Given the description of an element on the screen output the (x, y) to click on. 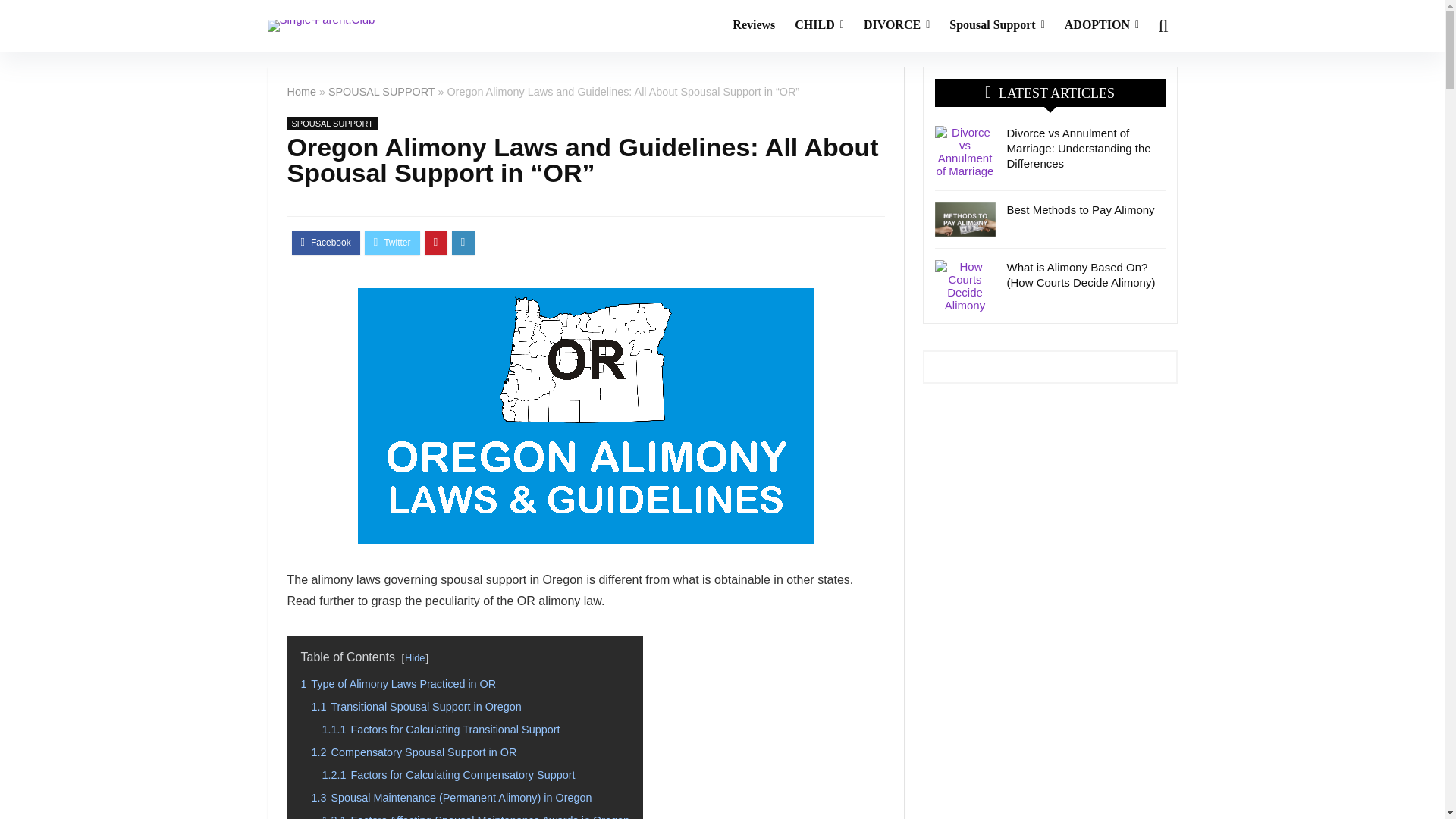
SPOUSAL SUPPORT (331, 123)
1.3.1 Factors Affecting Spousal Maintenance Awards in Oregon (474, 816)
1.1 Transitional Spousal Support in Oregon (416, 706)
SPOUSAL SUPPORT (382, 91)
CHILD (818, 25)
1.1.1 Factors for Calculating Transitional Support (440, 729)
ADOPTION (1101, 25)
Hide (414, 657)
Home (300, 91)
Reviews (753, 25)
